Given the description of an element on the screen output the (x, y) to click on. 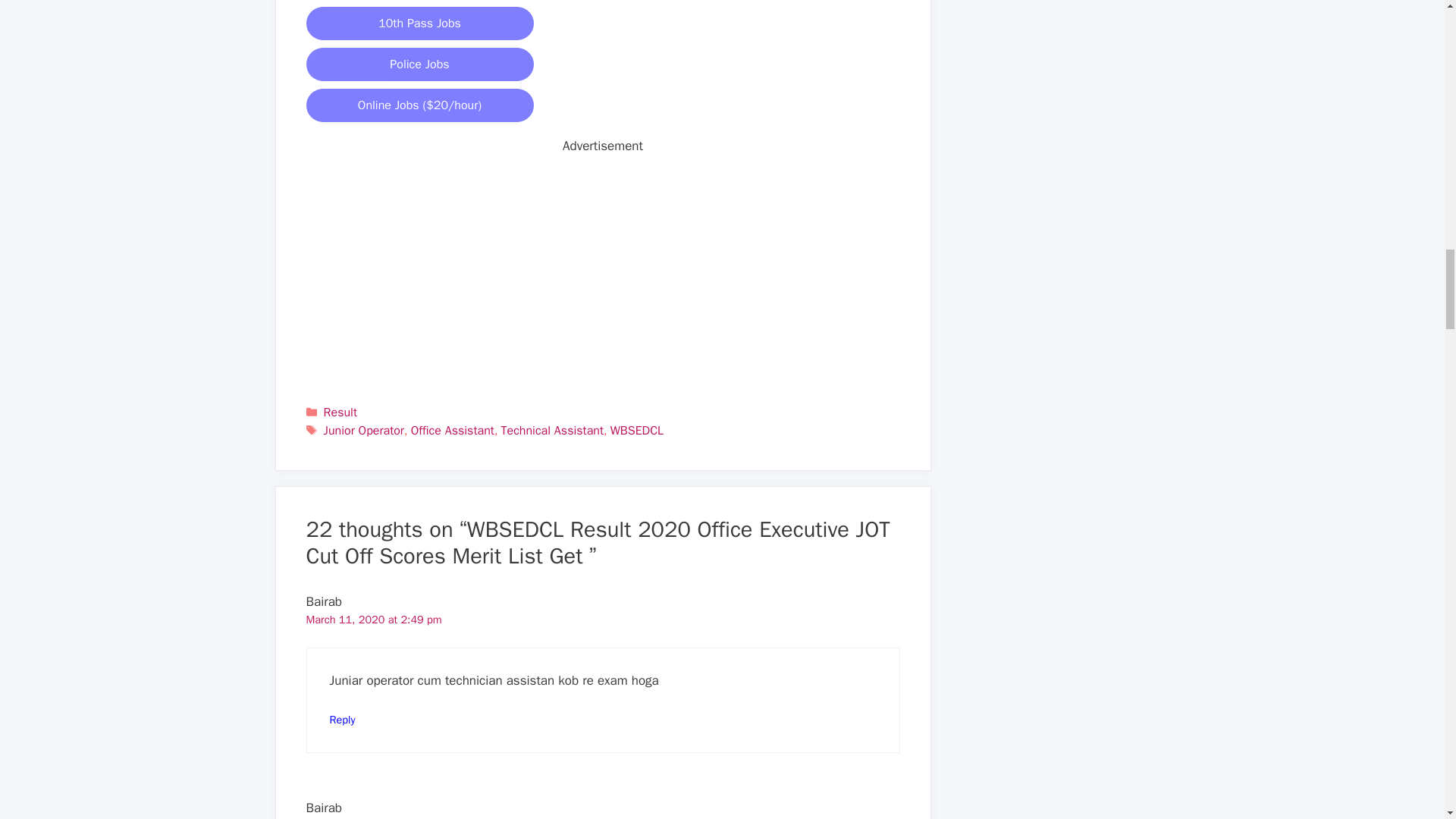
10th Pass Jobs (419, 23)
Police Jobs (419, 64)
10th Pass Jobs (419, 23)
WBSEDCL (636, 430)
Junior Operator (363, 430)
Police Jobs (419, 64)
Result (339, 412)
Office Assistant (452, 430)
Technical Assistant (552, 430)
